Given the description of an element on the screen output the (x, y) to click on. 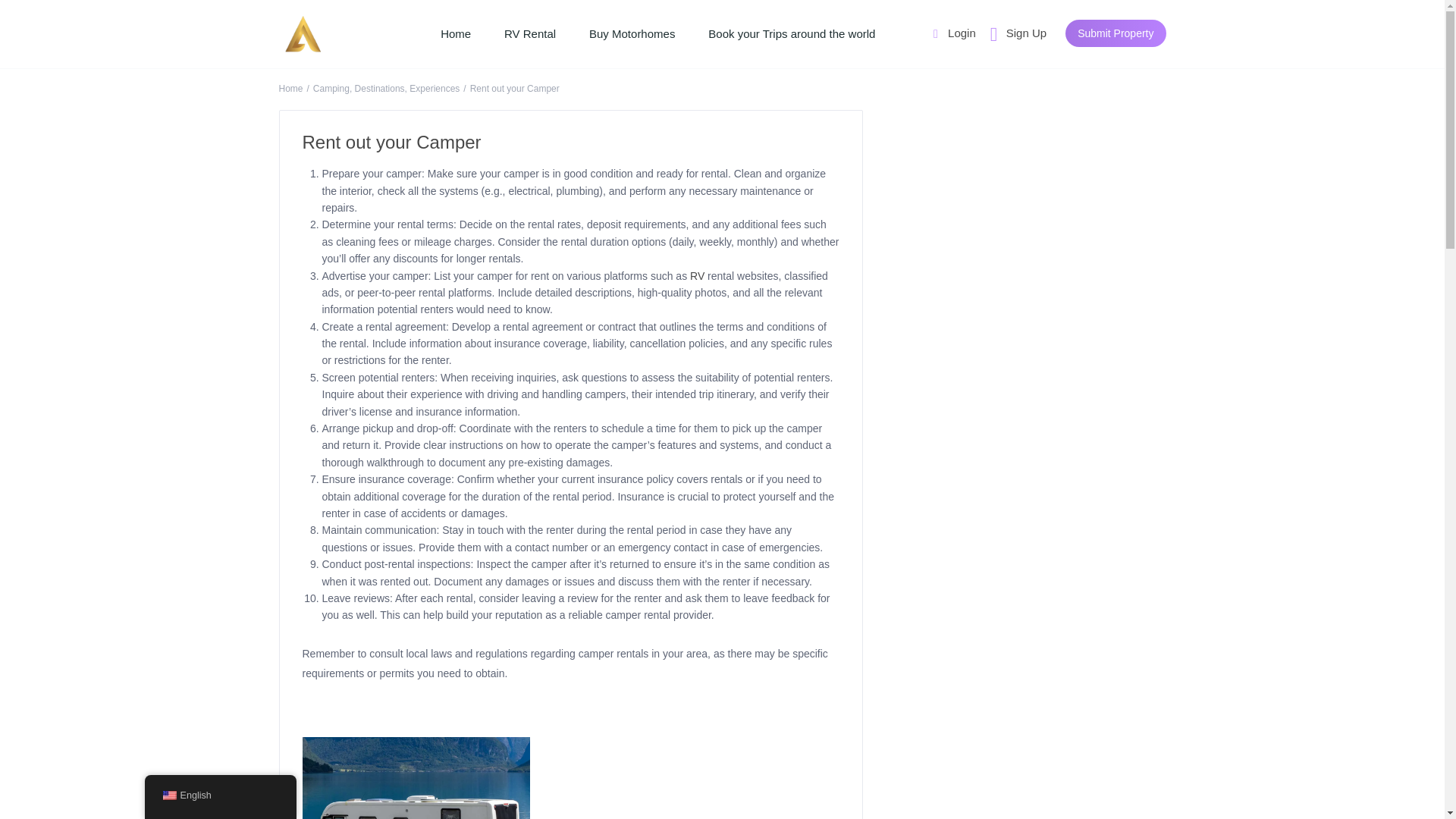
Camping (331, 88)
RV (697, 275)
Book your Trips around the world (791, 33)
Submit Property (1115, 32)
English (168, 795)
RV (697, 275)
RV Rental (529, 33)
Buy Motorhomes (631, 33)
Destinations (379, 88)
Home (290, 88)
